Given the description of an element on the screen output the (x, y) to click on. 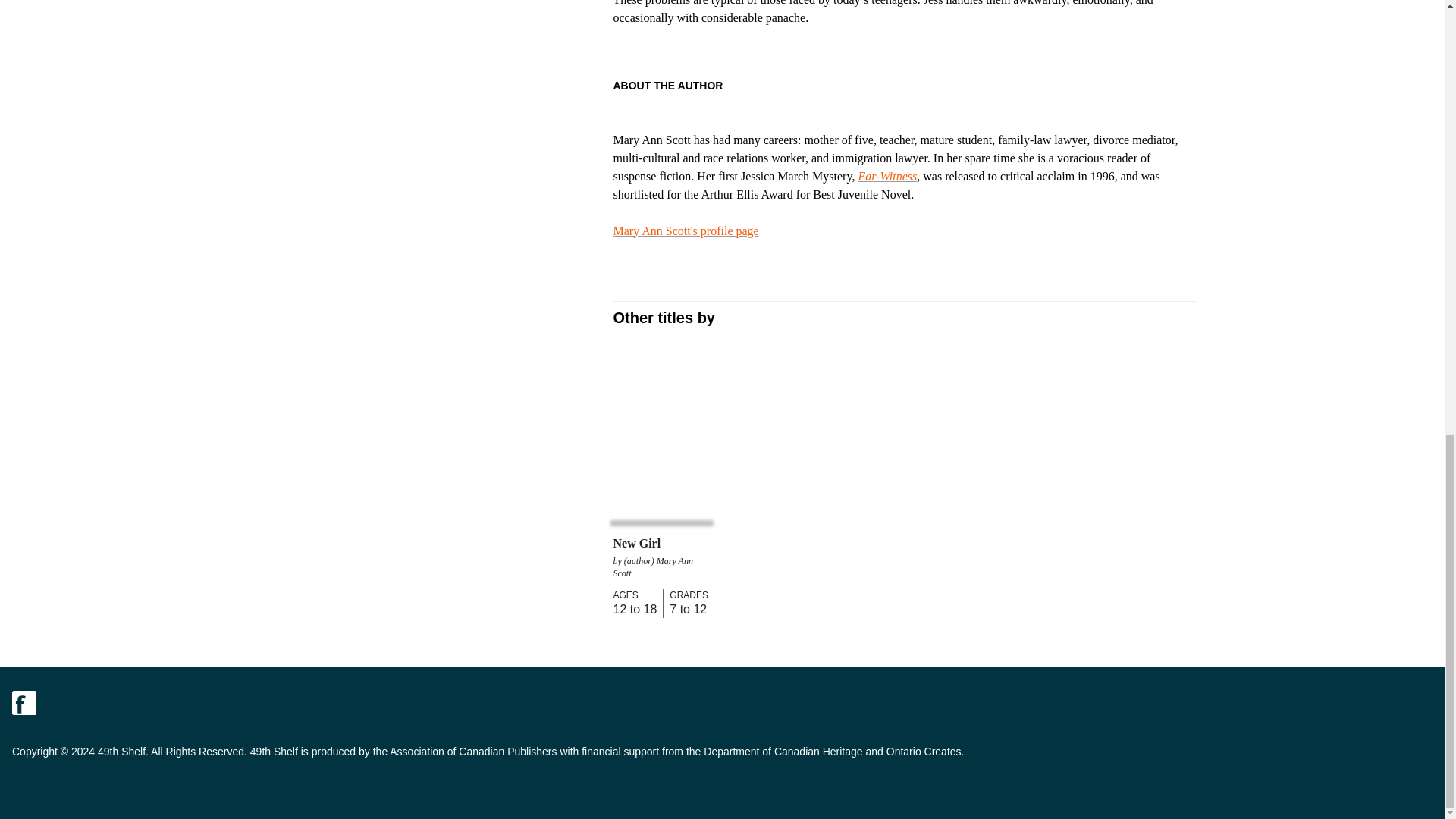
Mary Ann Scott's profile page (685, 230)
Visit us on Facebook (23, 702)
Recommended Ages (634, 594)
Ear-Witness (887, 175)
Recommended Grades (685, 594)
